Given the description of an element on the screen output the (x, y) to click on. 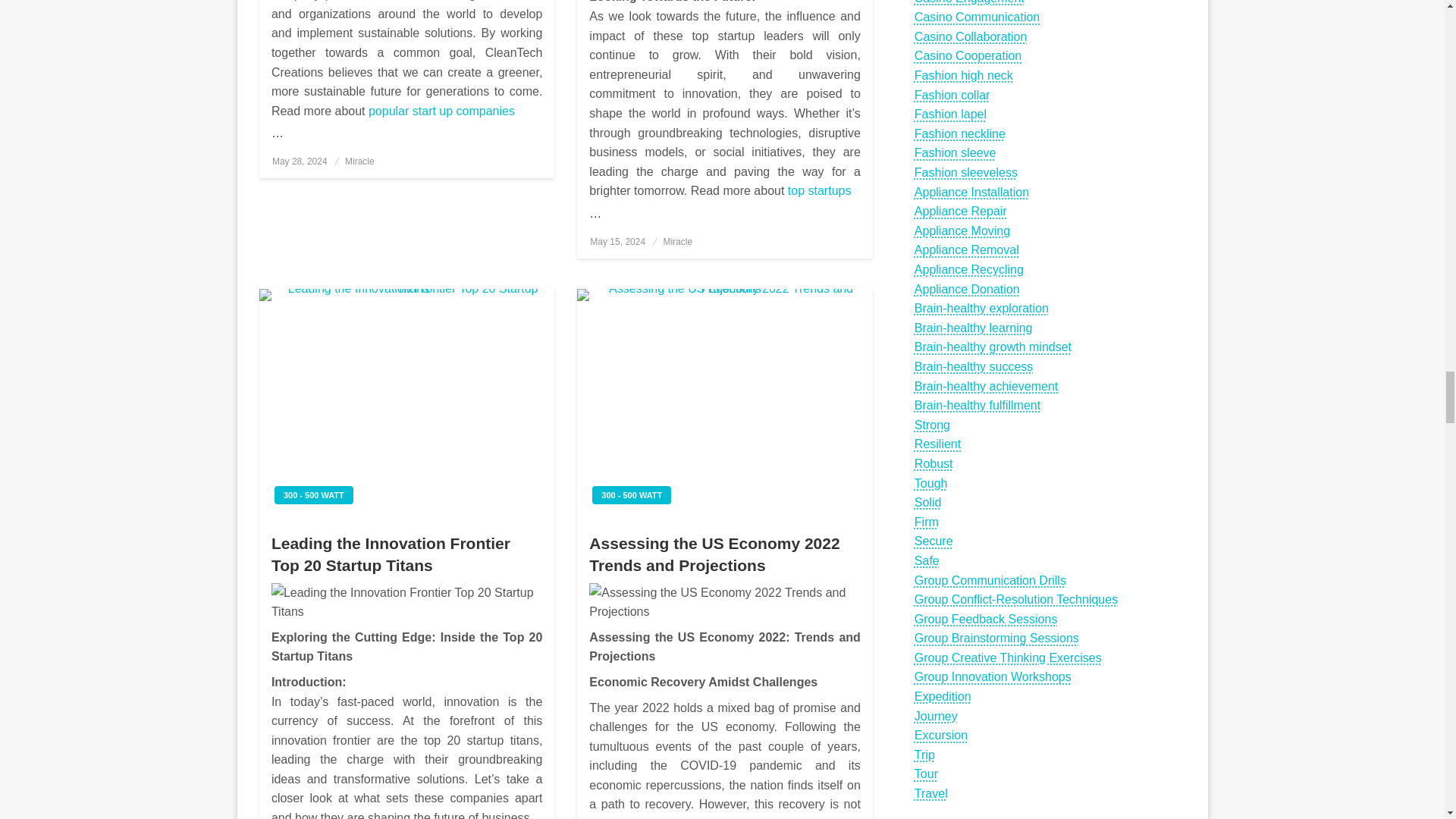
Leading the Innovation Frontier Top 20 Startup Titans (406, 402)
Miracle (677, 241)
Leading the Innovation Frontier Top 20 Startup Titans (405, 602)
Miracle (359, 161)
